Given the description of an element on the screen output the (x, y) to click on. 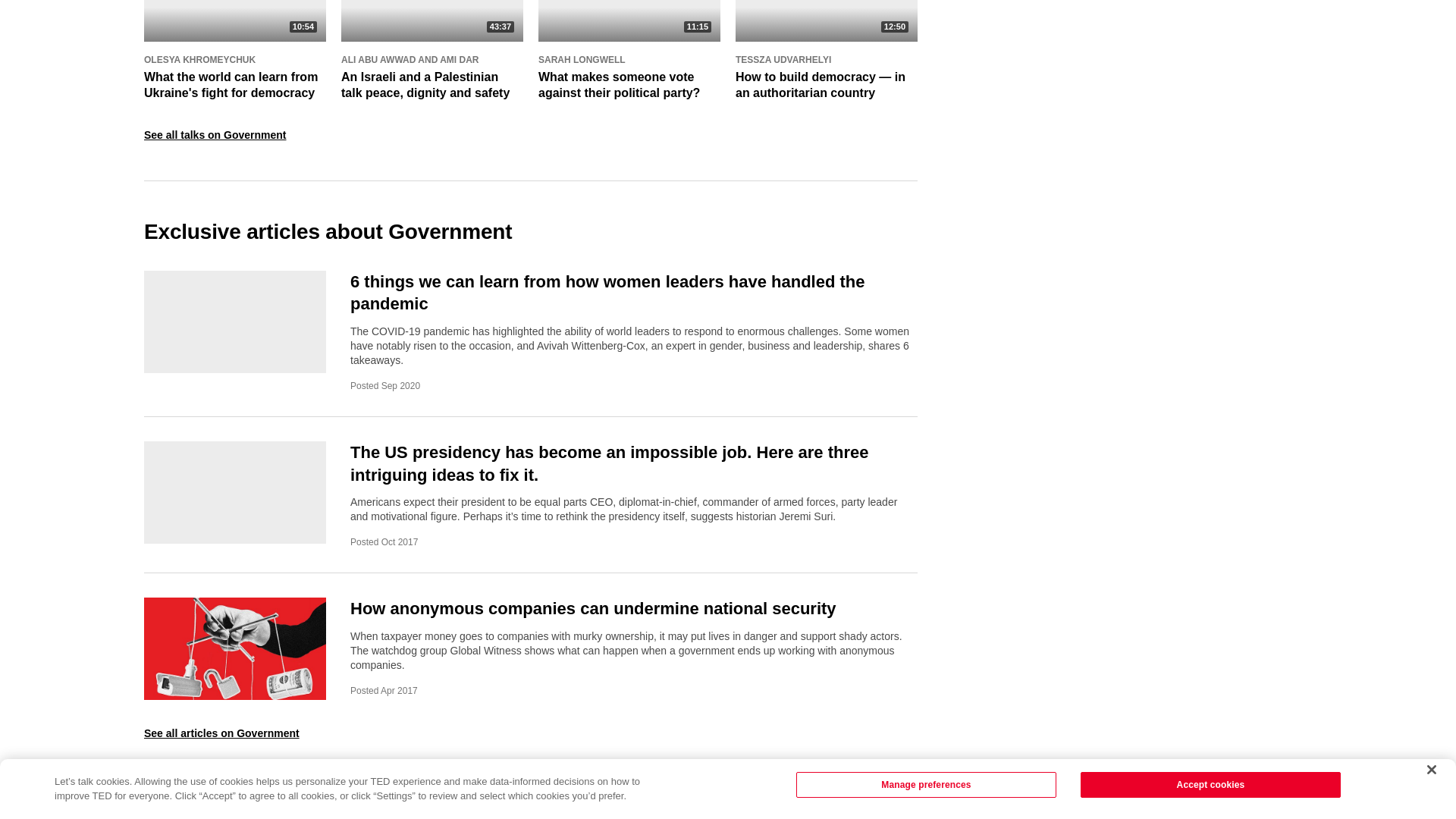
See all talks on Government (215, 133)
